Given the description of an element on the screen output the (x, y) to click on. 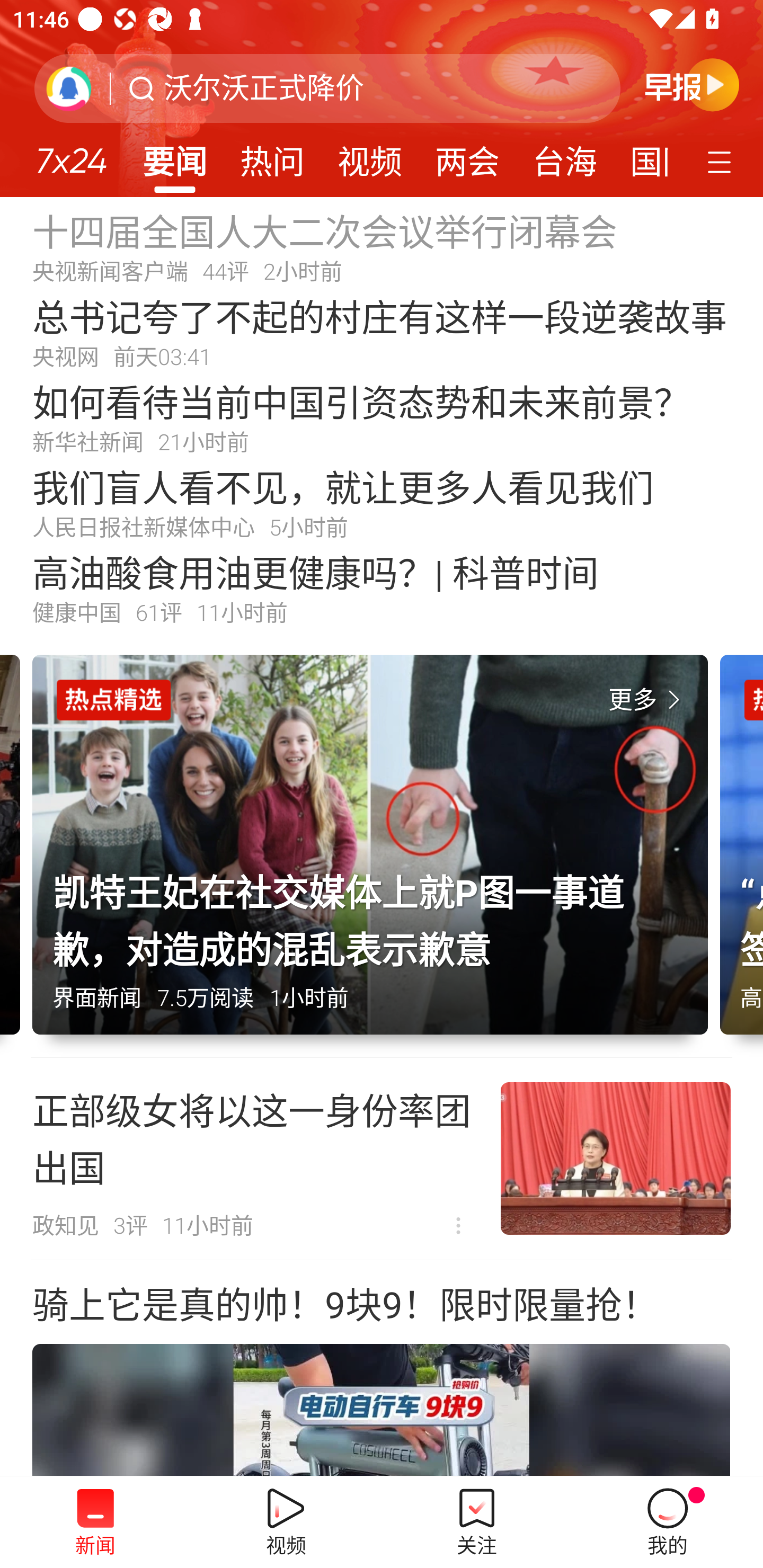
早晚报 (691, 84)
刷新 (68, 88)
沃尔沃正式降价 (263, 88)
7x24 (70, 154)
要闻 (174, 155)
热问 (272, 155)
视频 (369, 155)
两会 (466, 155)
台海 (564, 155)
 定制频道 (721, 160)
十四届全国人大二次会议举行闭幕会 央视新闻客户端 44评 2小时前 (381, 245)
总书记夸了不起的村庄有这样一段逆袭故事 央视网 前天03:41 (381, 331)
如何看待当前中国引资态势和未来前景？ 新华社新闻 21小时前 (381, 416)
我们盲人看不见，就让更多人看见我们 人民日报社新媒体中心 5小时前 (381, 502)
高油酸食用油更健康吗？| 科普时间 健康中国 61评 11小时前 (381, 587)
更多  (648, 699)
正部级女将以这一身份率团出国 政知见 3评 11小时前  不感兴趣 (381, 1158)
 不感兴趣 (458, 1226)
骑上它是真的帅！9块9！限时限量抢！ (381, 1368)
